Given the description of an element on the screen output the (x, y) to click on. 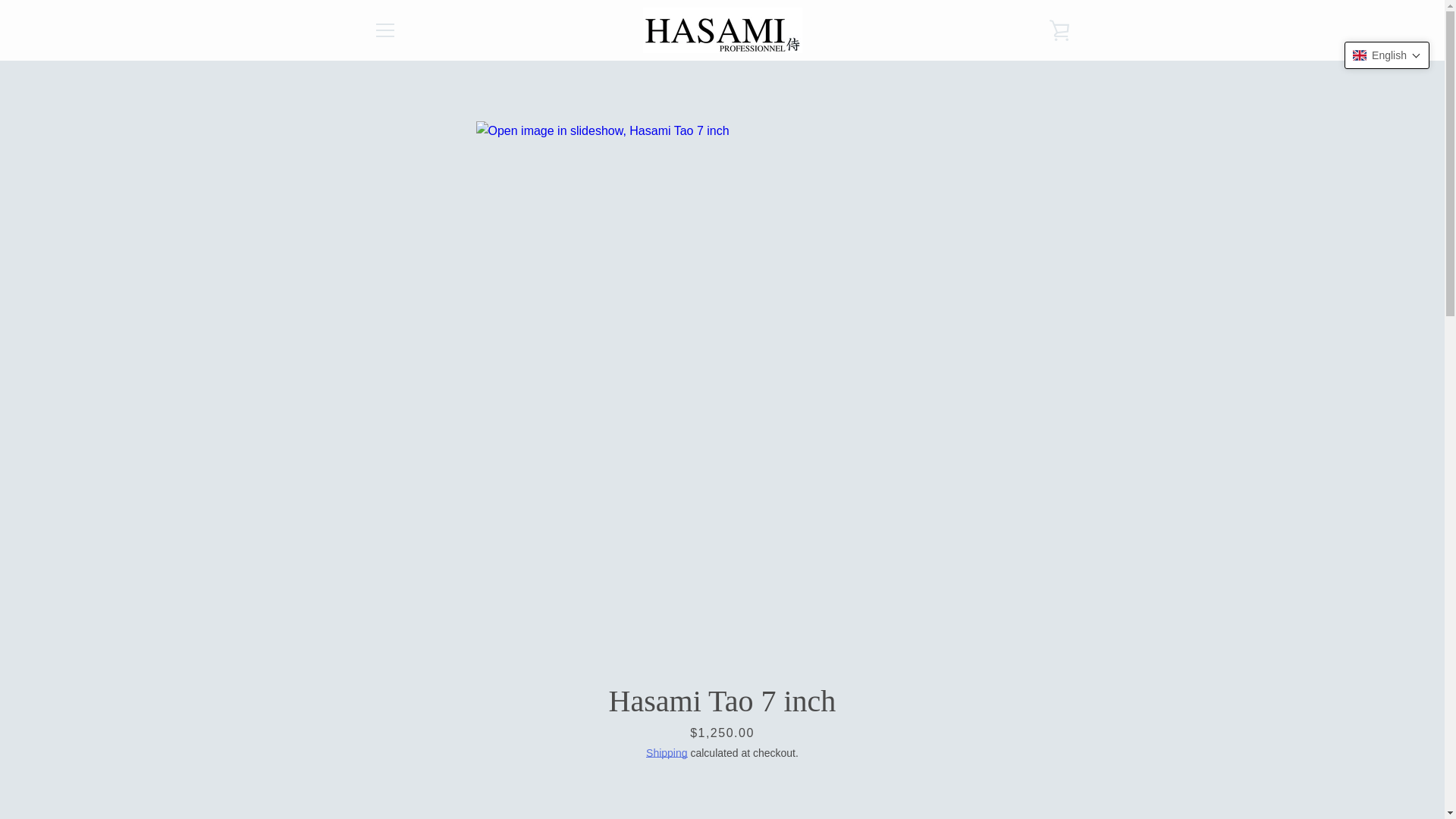
YouTube (399, 768)
RESEARCH (400, 615)
Visa (1022, 769)
Facebook (372, 768)
Powered by Shopify (765, 768)
MENU (384, 30)
VIEW CART (1059, 30)
SUBSCRIBE (1029, 685)
Ciseauxhasami on YouTube (399, 768)
PayPal (953, 769)
Mastercard (918, 769)
Ciseauxhasami (733, 758)
Shop Pay (988, 769)
American Express (883, 769)
